Given the description of an element on the screen output the (x, y) to click on. 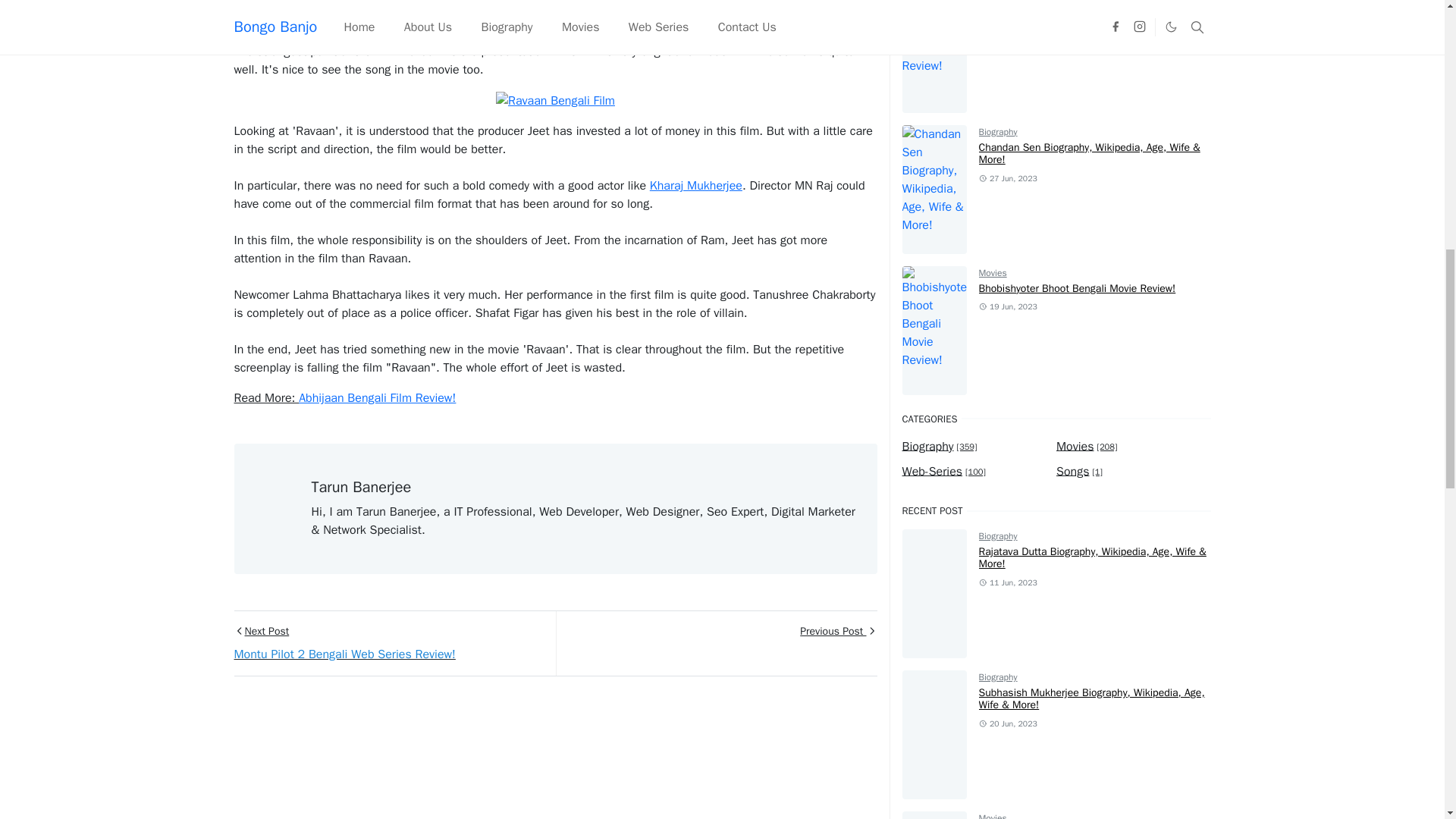
Kharaj Mukherjee (695, 185)
Ravaan Bengali Film (555, 100)
Abhijaan Bengali Film Review! (376, 397)
Previous Post (715, 642)
